Given the description of an element on the screen output the (x, y) to click on. 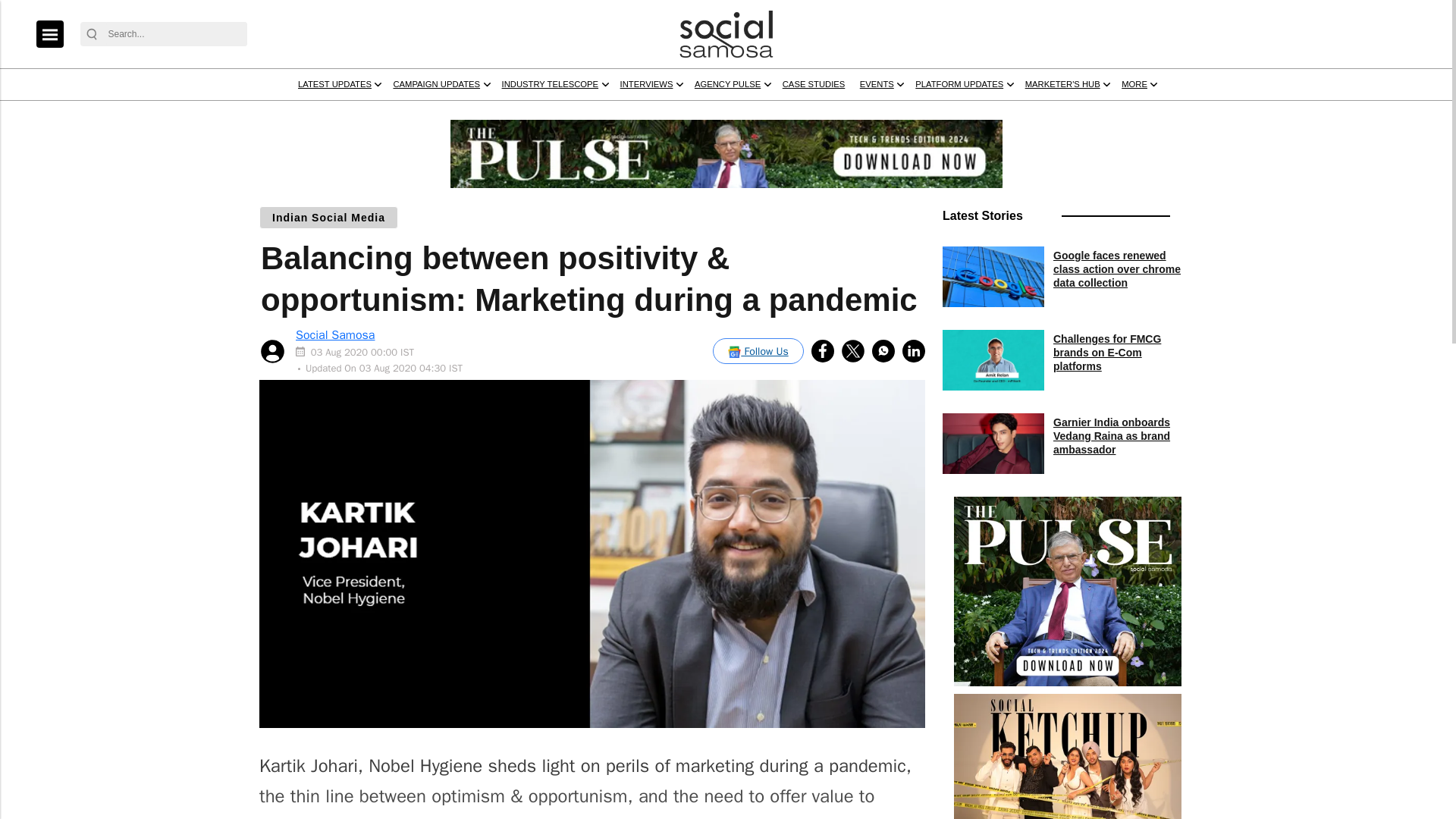
LATEST UPDATES (446, 113)
AGENCY PULSE (969, 113)
CAMPAIGN UPDATES (582, 113)
CASE STUDIES (1085, 113)
PLATFORM UPDATES (1278, 113)
INTERVIEWS (861, 113)
EVENTS (1168, 113)
INDUSTRY TELESCOPE (732, 113)
